Given the description of an element on the screen output the (x, y) to click on. 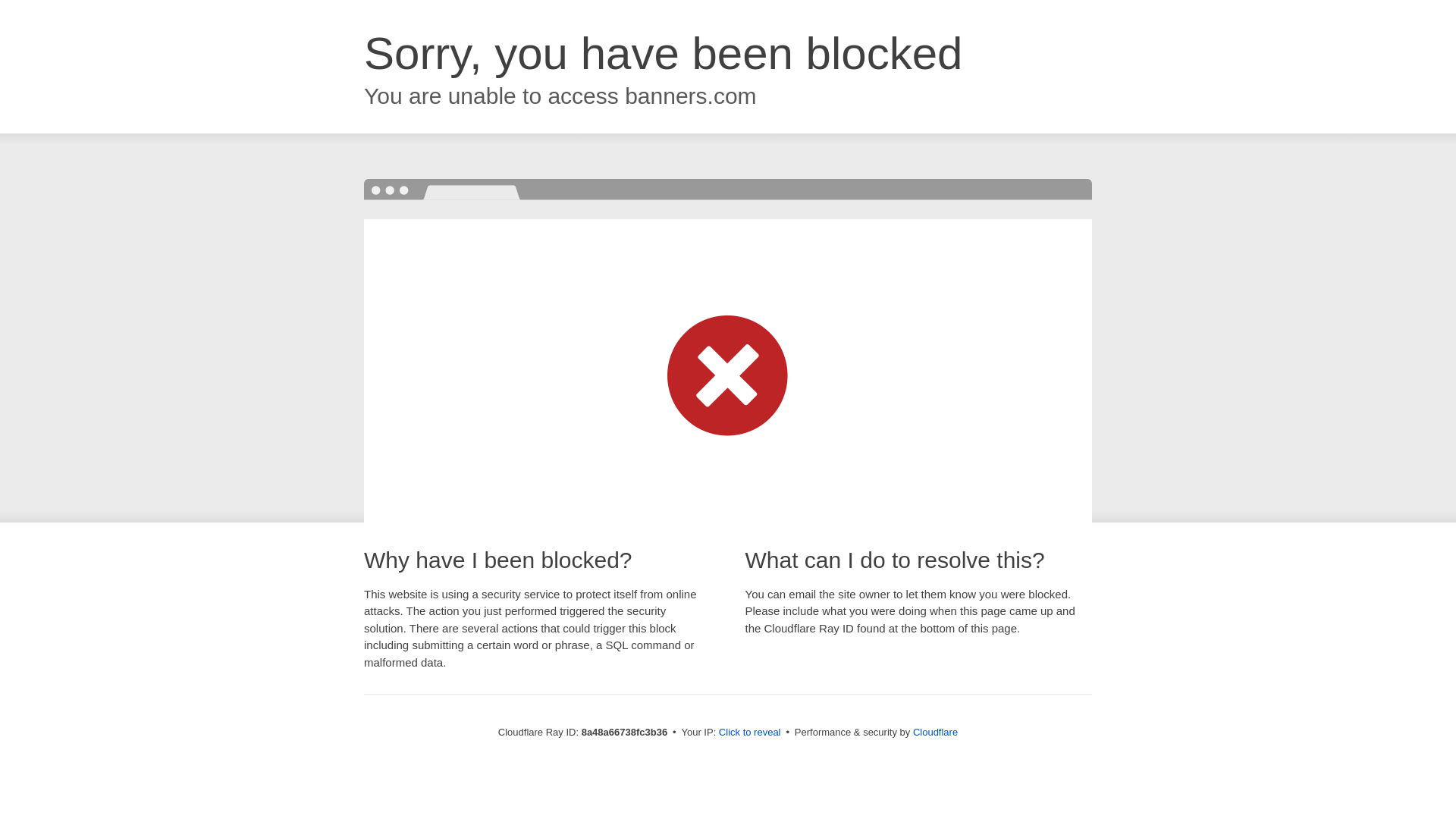
Click to reveal (749, 732)
Cloudflare (935, 731)
